Given the description of an element on the screen output the (x, y) to click on. 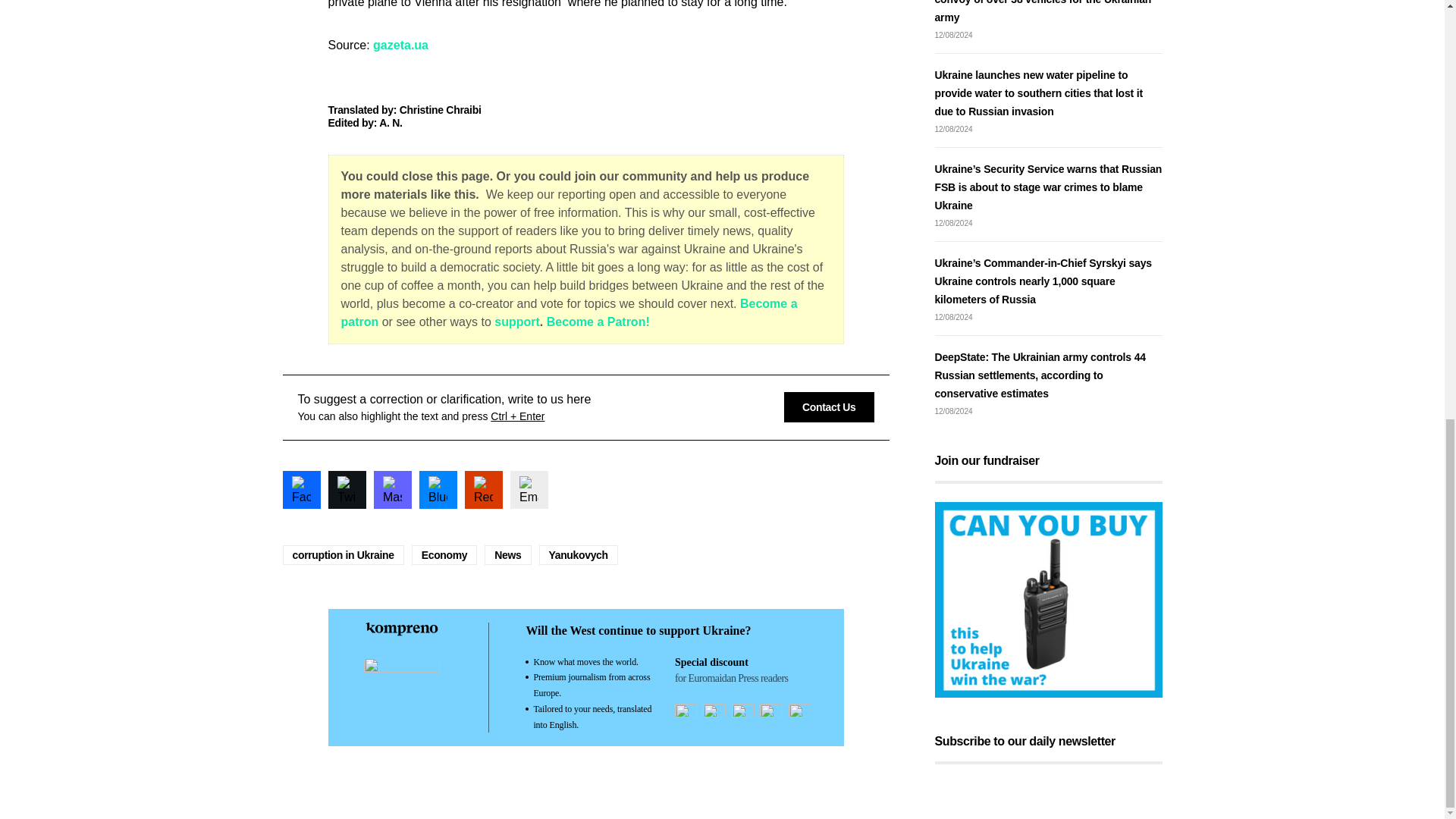
Share to Twitter (346, 488)
Share to Mastodon (391, 488)
Share to Facebook (301, 488)
Share to Bluesky (438, 488)
Share to Reddit (483, 488)
Share to Email (528, 488)
